Given the description of an element on the screen output the (x, y) to click on. 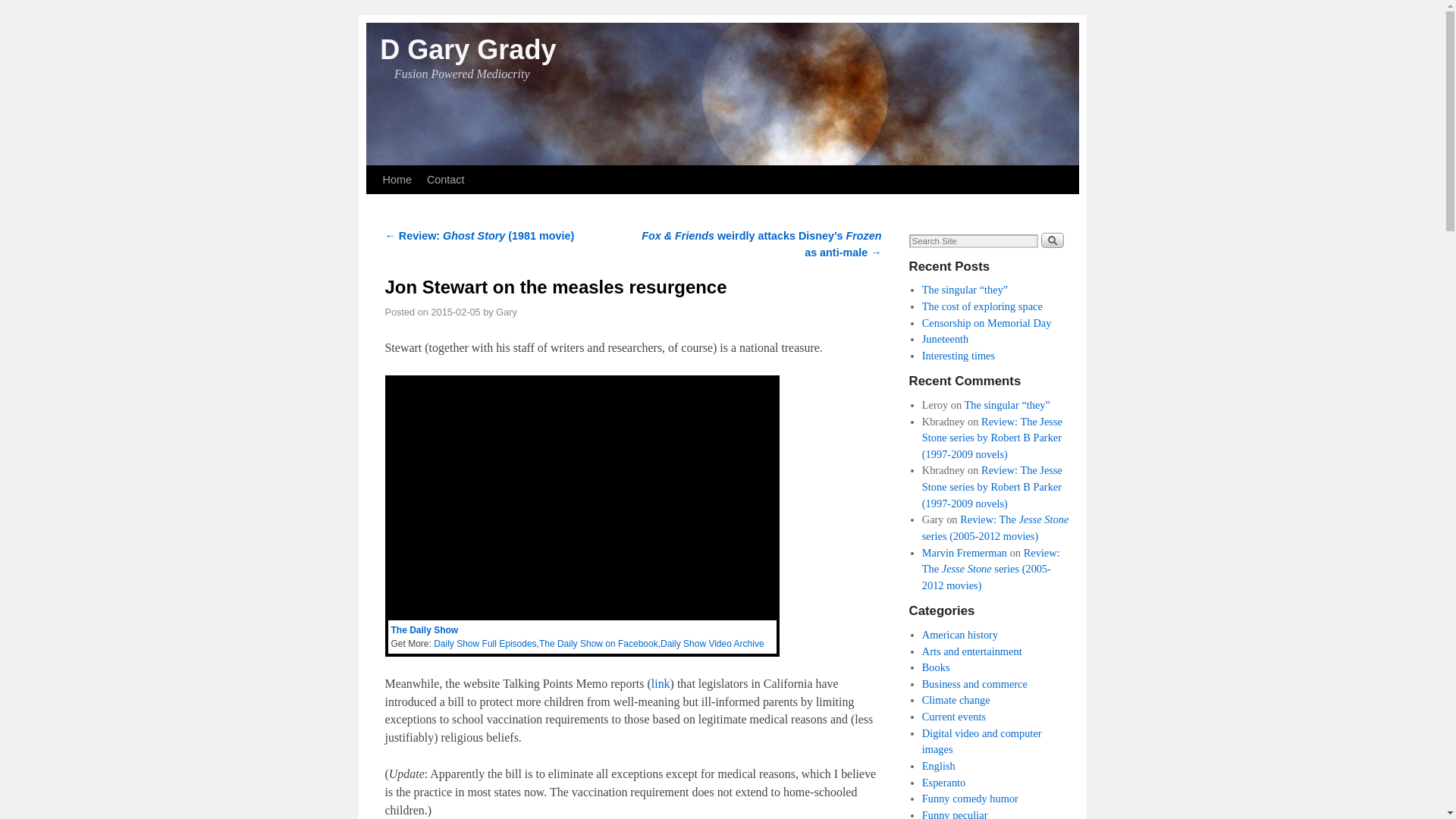
Juneteenth (945, 338)
The Daily Show on Facebook (598, 643)
Interesting times (957, 355)
Censorship on Memorial Day (986, 322)
Skip to secondary content (412, 172)
The Daily Show (424, 629)
08:25 (455, 311)
The cost of exploring space (981, 306)
D Gary Grady (468, 49)
Daily Show Full Episodes (484, 643)
Skip to primary content (408, 172)
D Gary Grady (468, 49)
link (659, 683)
Daily Show Video Archive (712, 643)
Home (396, 179)
